Given the description of an element on the screen output the (x, y) to click on. 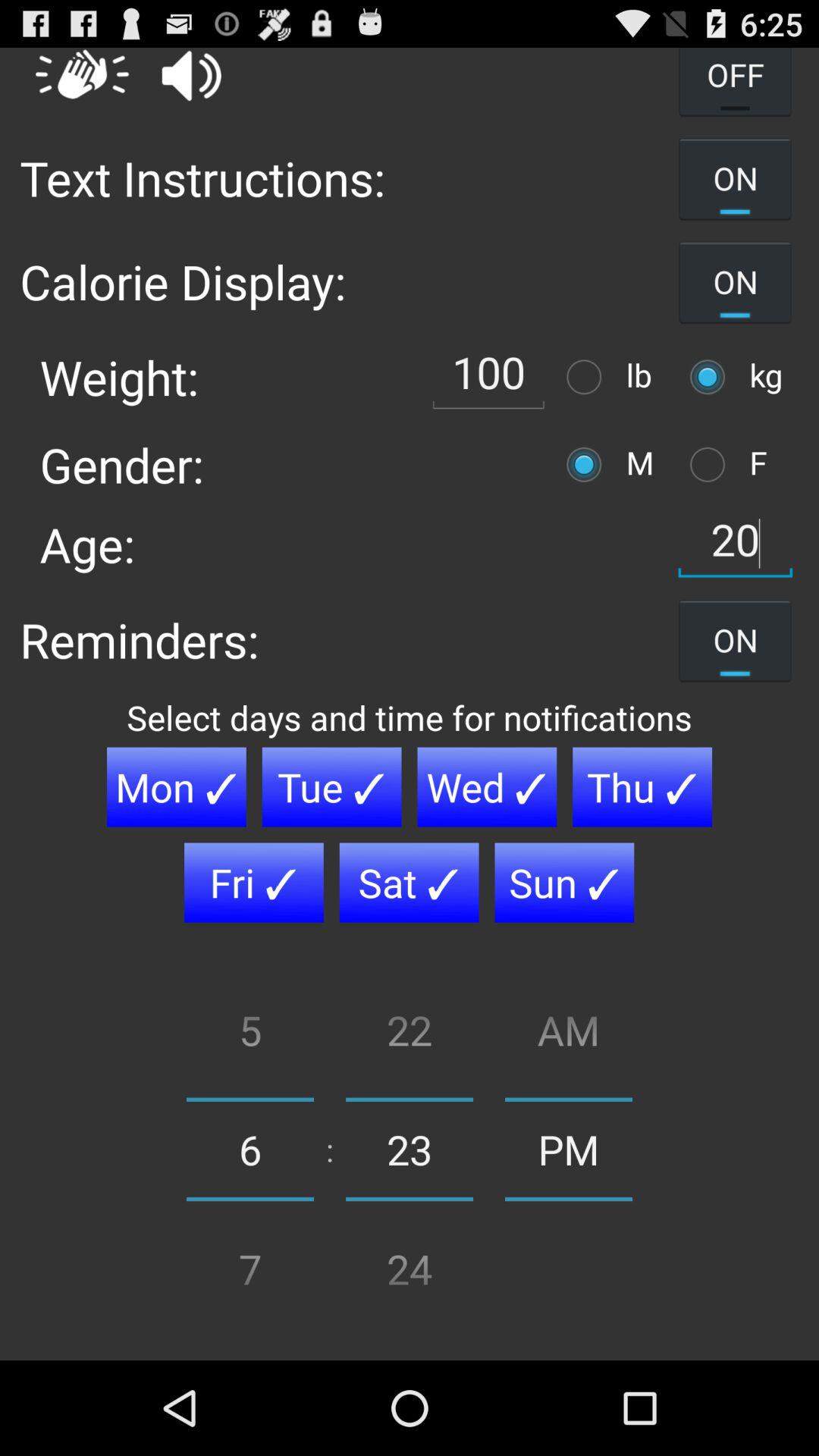
select female option (711, 464)
